Given the description of an element on the screen output the (x, y) to click on. 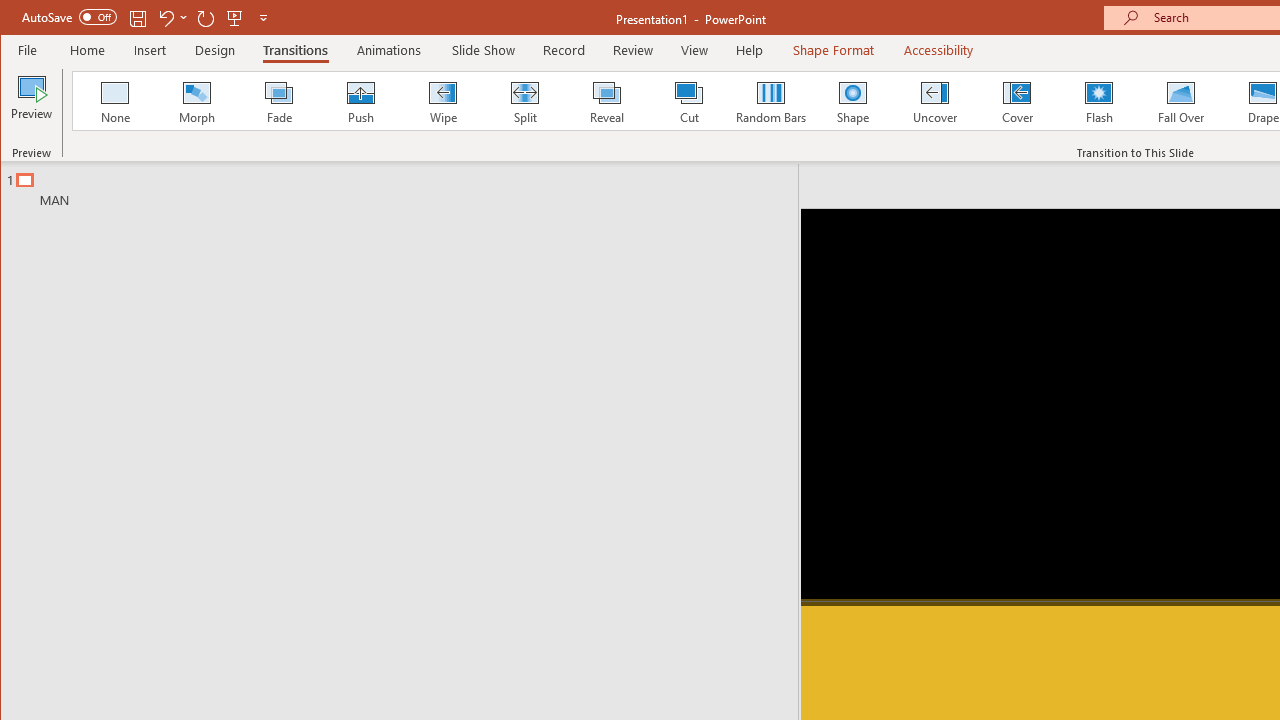
Cover (1016, 100)
Uncover (934, 100)
